Given the description of an element on the screen output the (x, y) to click on. 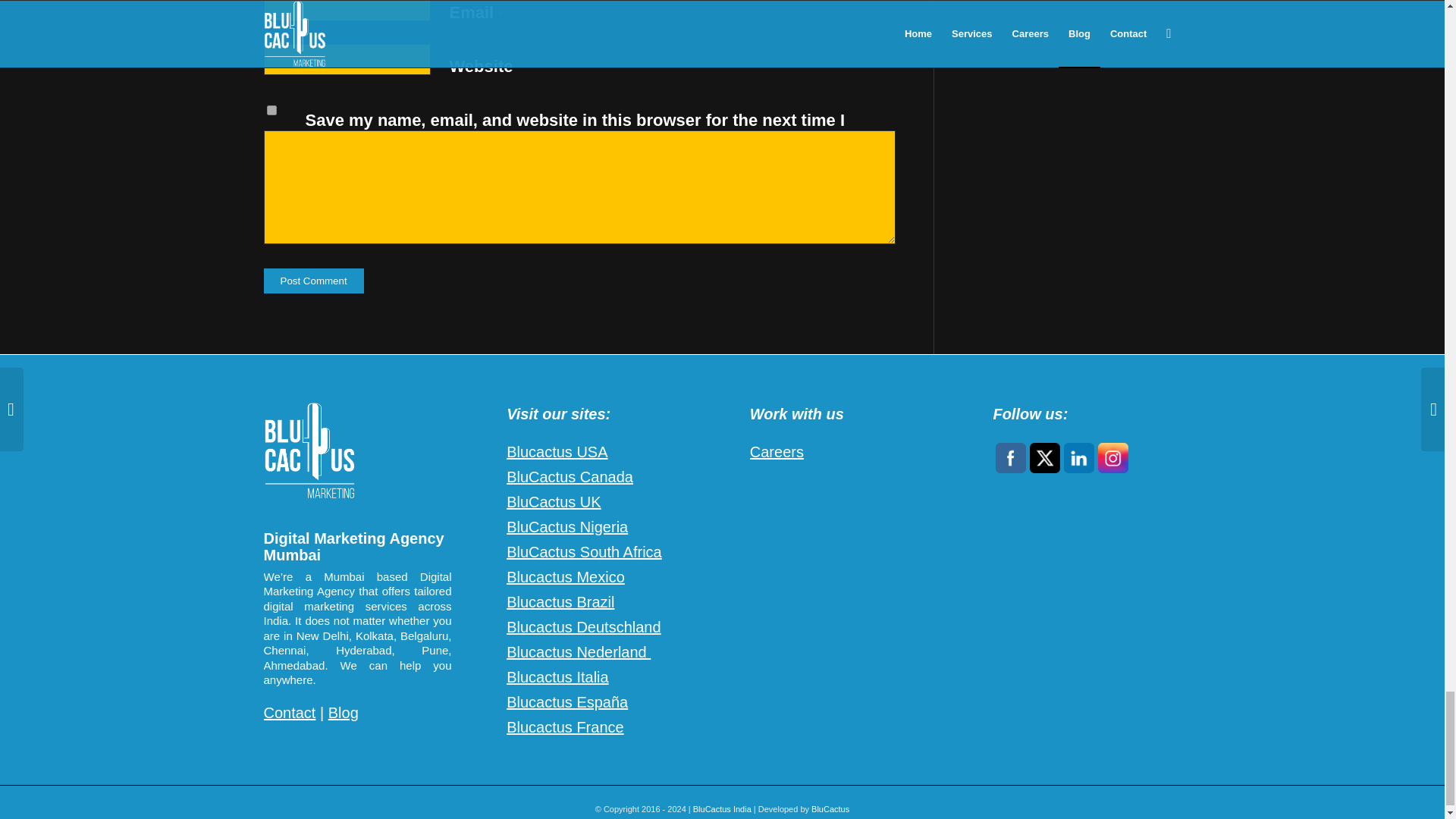
yes (271, 110)
Post Comment (313, 280)
